Given the description of an element on the screen output the (x, y) to click on. 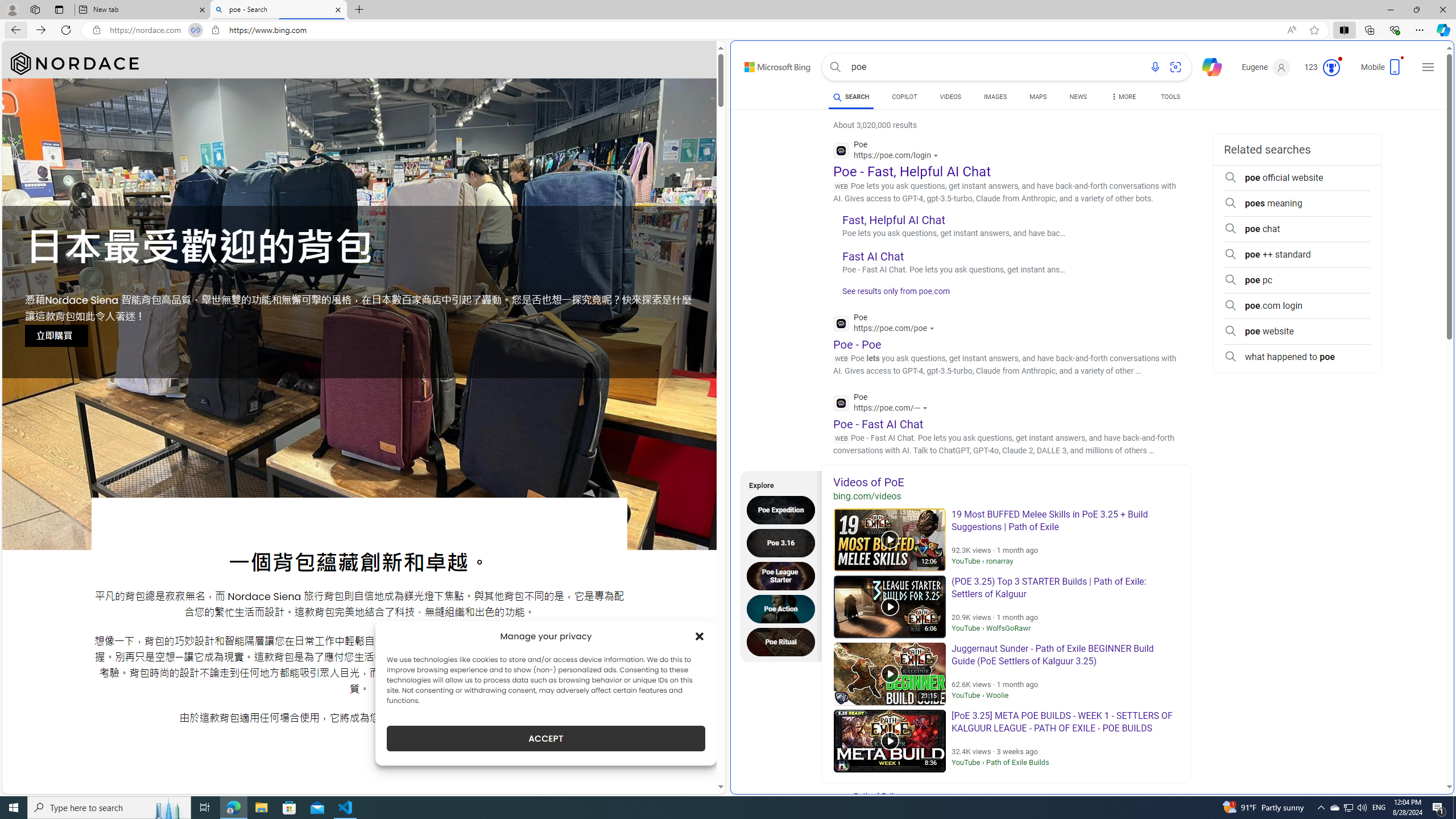
COPILOT (903, 96)
Eugene (1266, 67)
Back to Bing search (770, 64)
what happened to poe (1297, 356)
poe ++ standard (1297, 254)
TOOLS (1171, 98)
IMAGES (995, 98)
Poe 3.16 (783, 542)
